Given the description of an element on the screen output the (x, y) to click on. 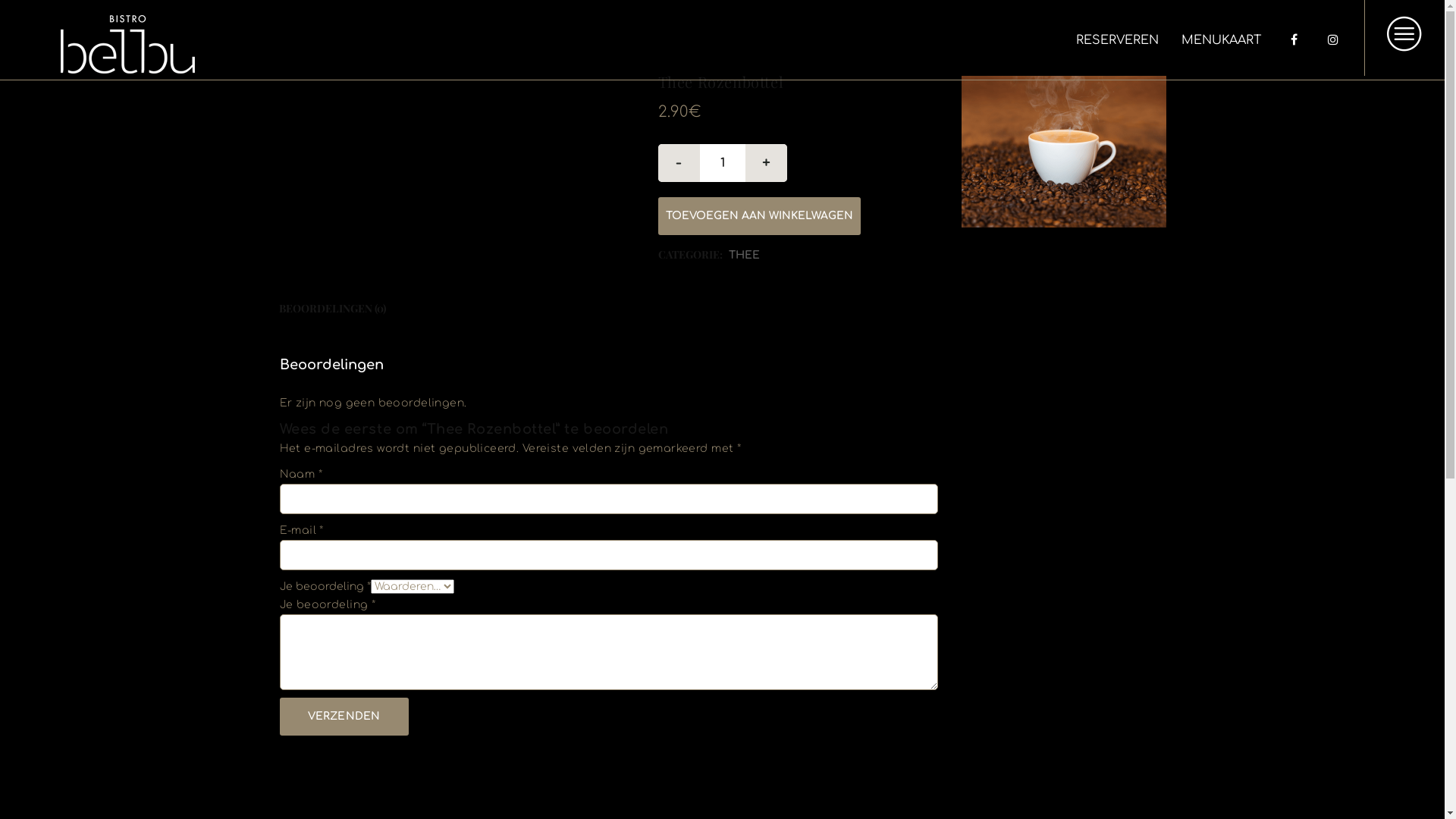
MENUKAART Element type: text (1221, 40)
RESERVEREN Element type: text (1117, 40)
TOEVOEGEN AAN WINKELWAGEN Element type: text (759, 216)
BEOORDELINGEN (0) Element type: text (332, 308)
Verzenden Element type: text (343, 716)
Zoeken Element type: text (1138, 465)
THEE Element type: text (743, 254)
